Given the description of an element on the screen output the (x, y) to click on. 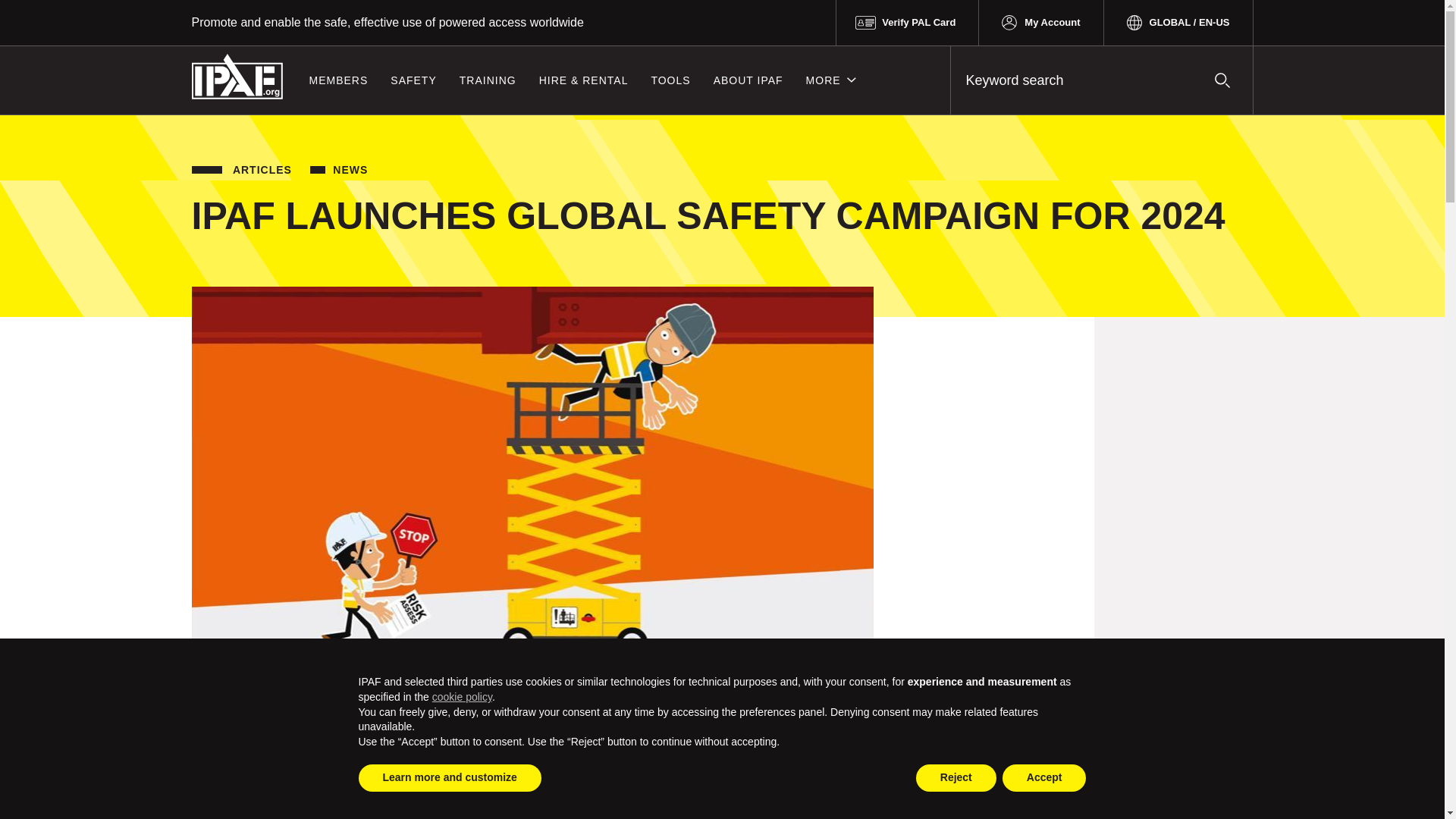
Training (487, 79)
Verify your PAL Card (906, 22)
Verify PAL Card (906, 22)
SAFETY (412, 79)
TRAINING (487, 79)
MEMBERS (337, 79)
My Account (1040, 22)
TOOLS (670, 79)
IPAF.org (236, 76)
Members (337, 79)
About IPAF (747, 79)
My Account (1040, 22)
Return to the IPAF homepage (236, 76)
